Given the description of an element on the screen output the (x, y) to click on. 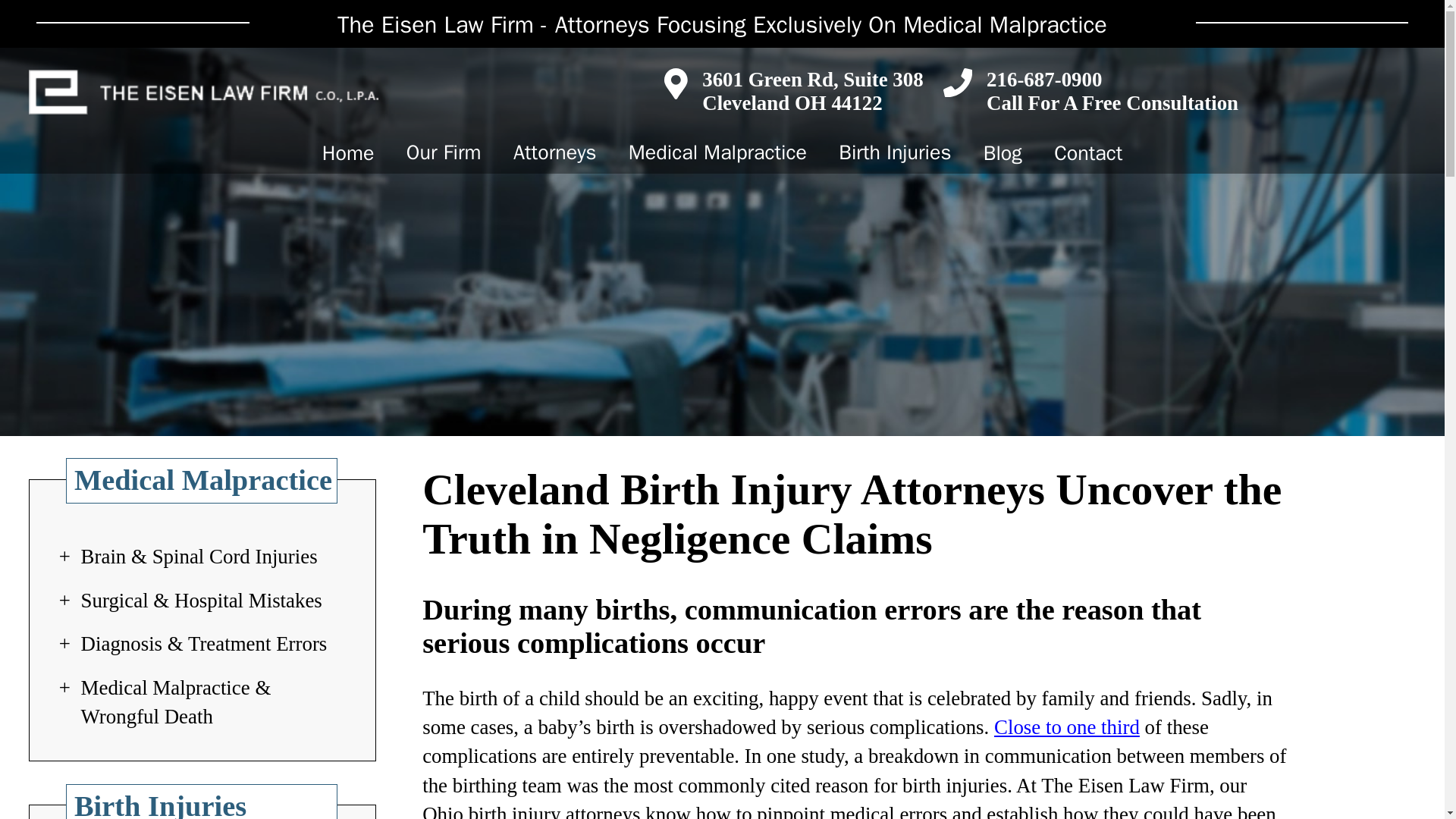
Home (347, 152)
Medical Malpractice (717, 152)
Attorneys (554, 152)
Our Firm (443, 152)
